Given the description of an element on the screen output the (x, y) to click on. 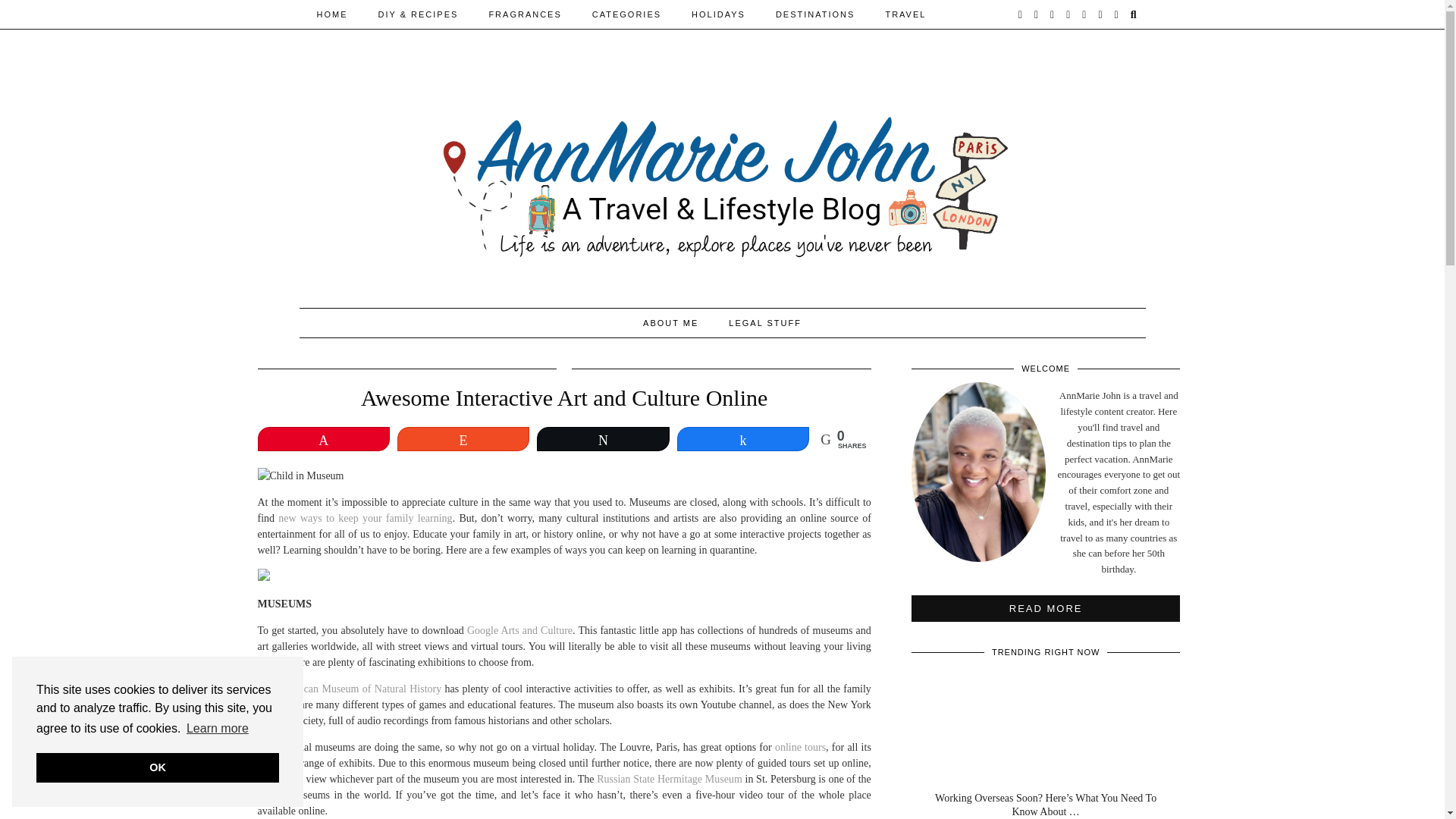
Learn more (217, 728)
OK (157, 767)
